Given the description of an element on the screen output the (x, y) to click on. 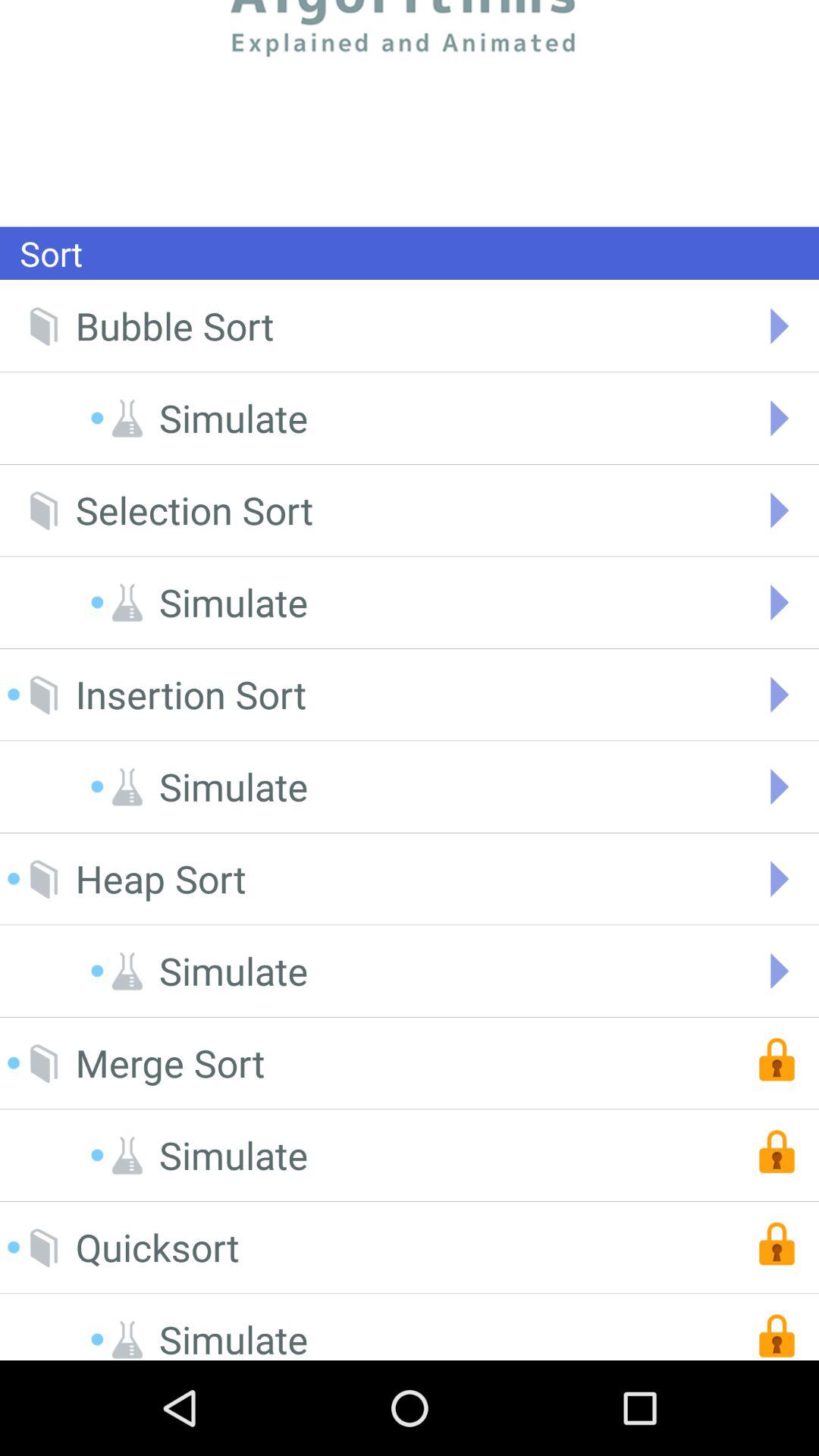
click the selection sort icon (194, 510)
